Given the description of an element on the screen output the (x, y) to click on. 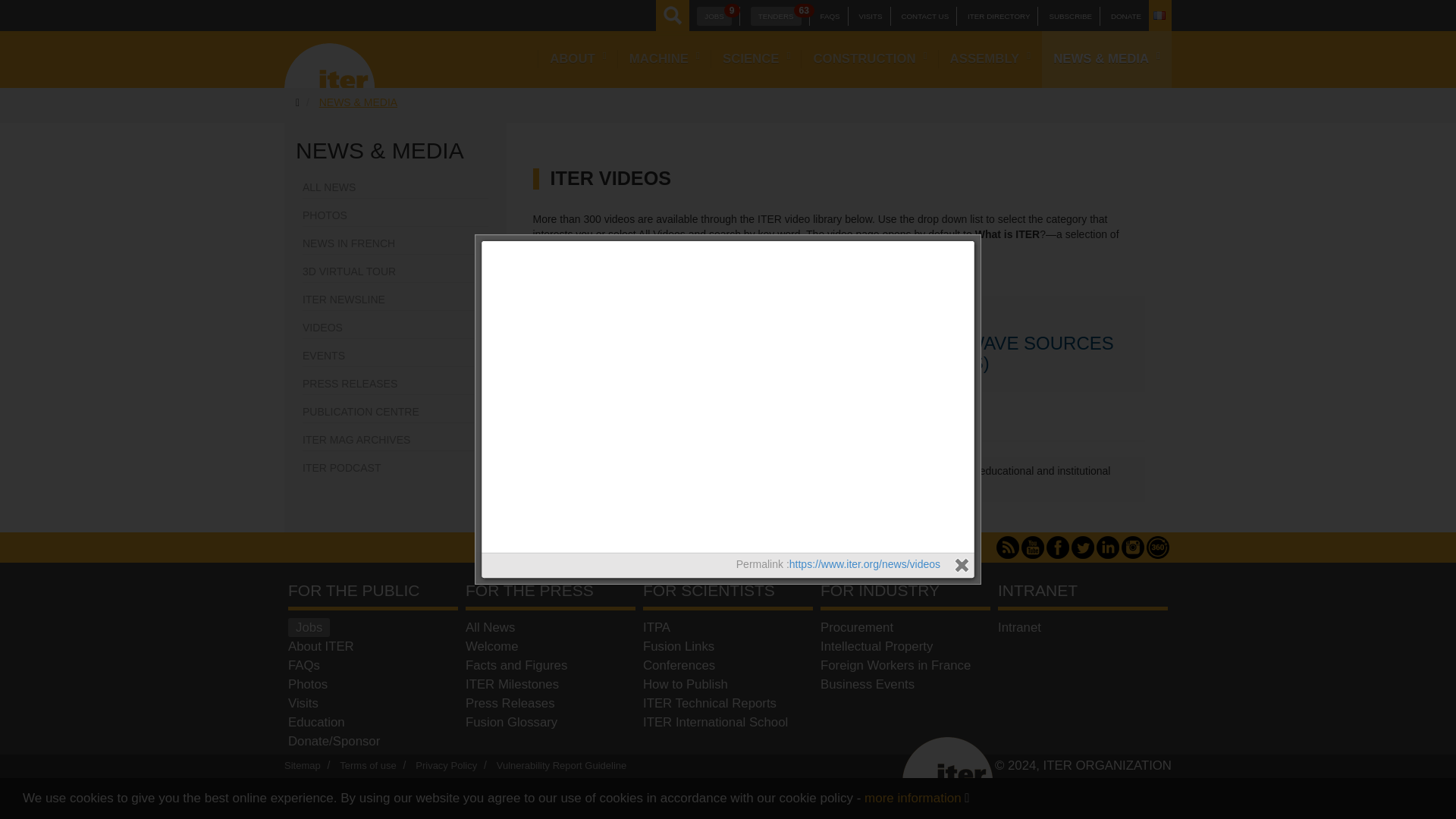
ITER Organization - Homepage (329, 59)
